Given the description of an element on the screen output the (x, y) to click on. 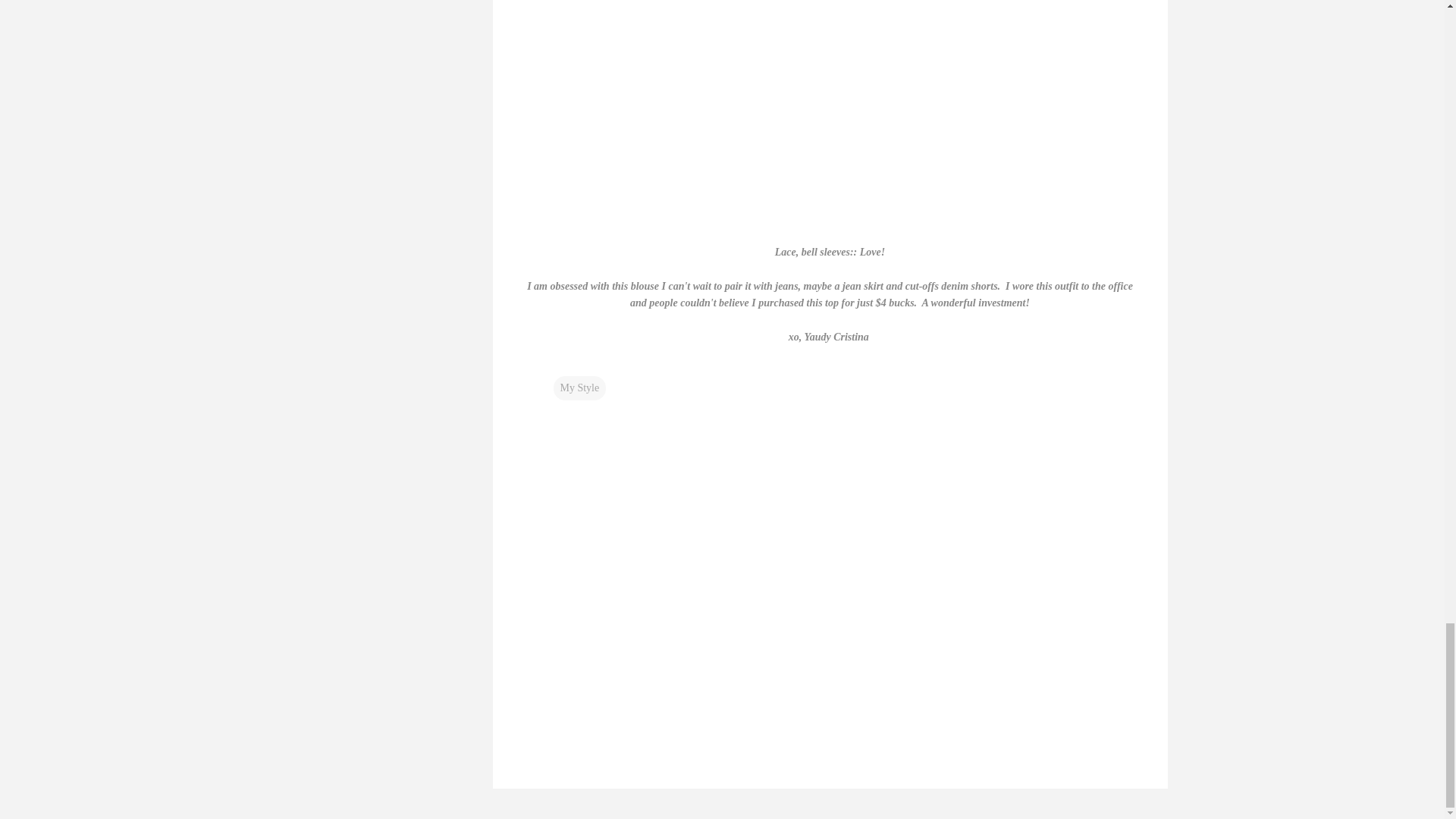
My Style (580, 387)
